Given the description of an element on the screen output the (x, y) to click on. 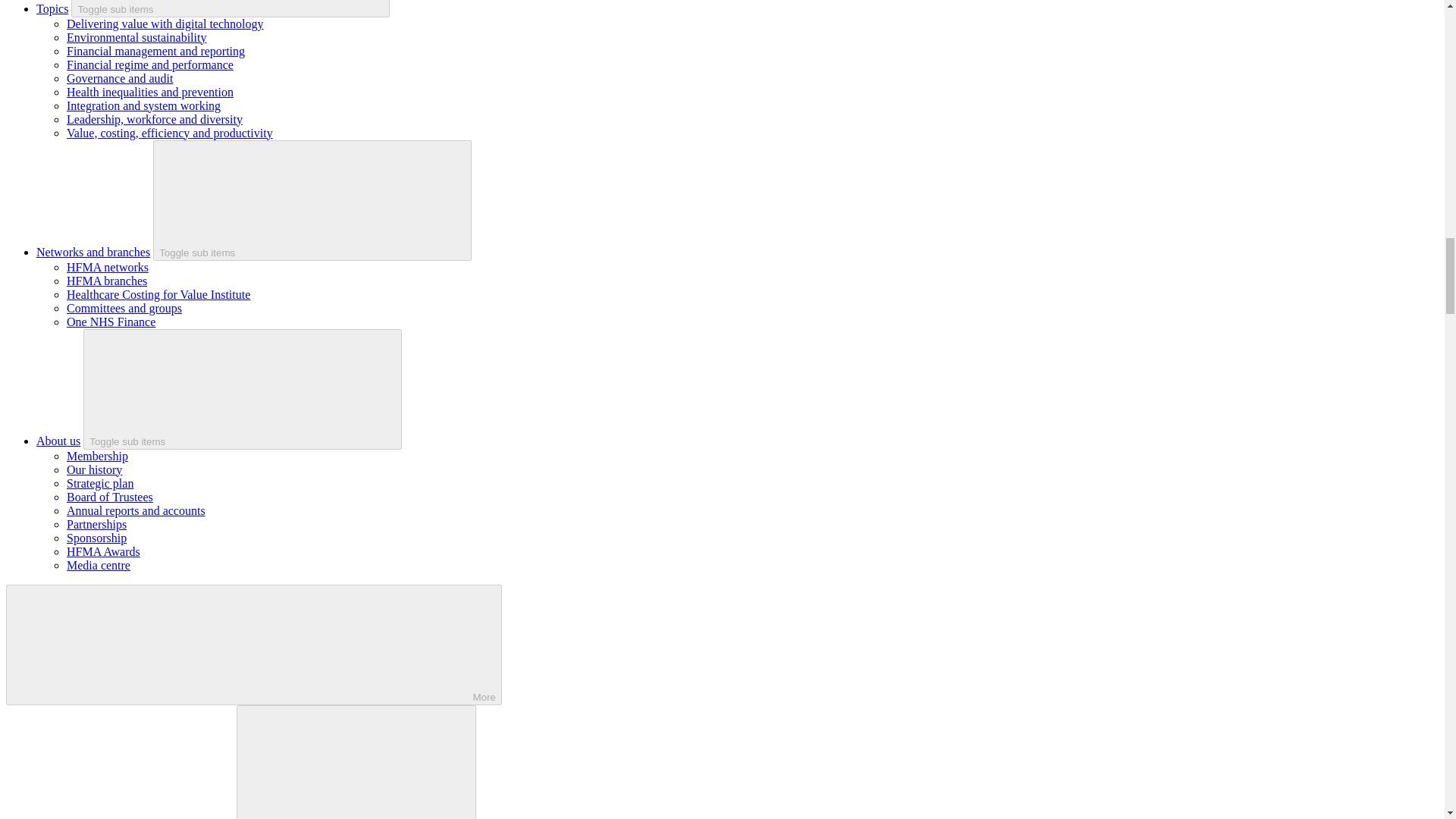
Return to the homepage (120, 814)
